Given the description of an element on the screen output the (x, y) to click on. 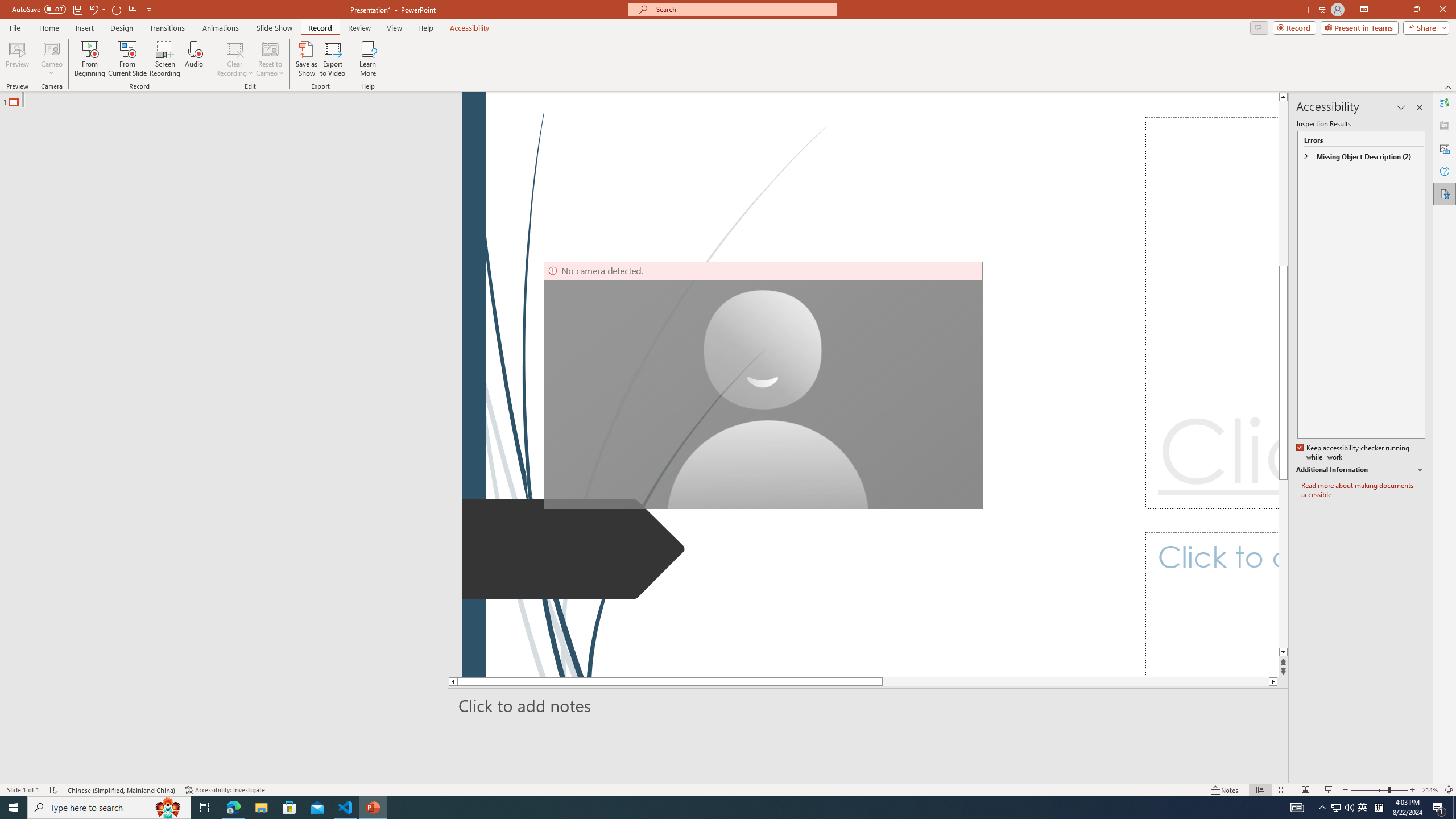
Camera 7, No camera detected. (762, 385)
